Given the description of an element on the screen output the (x, y) to click on. 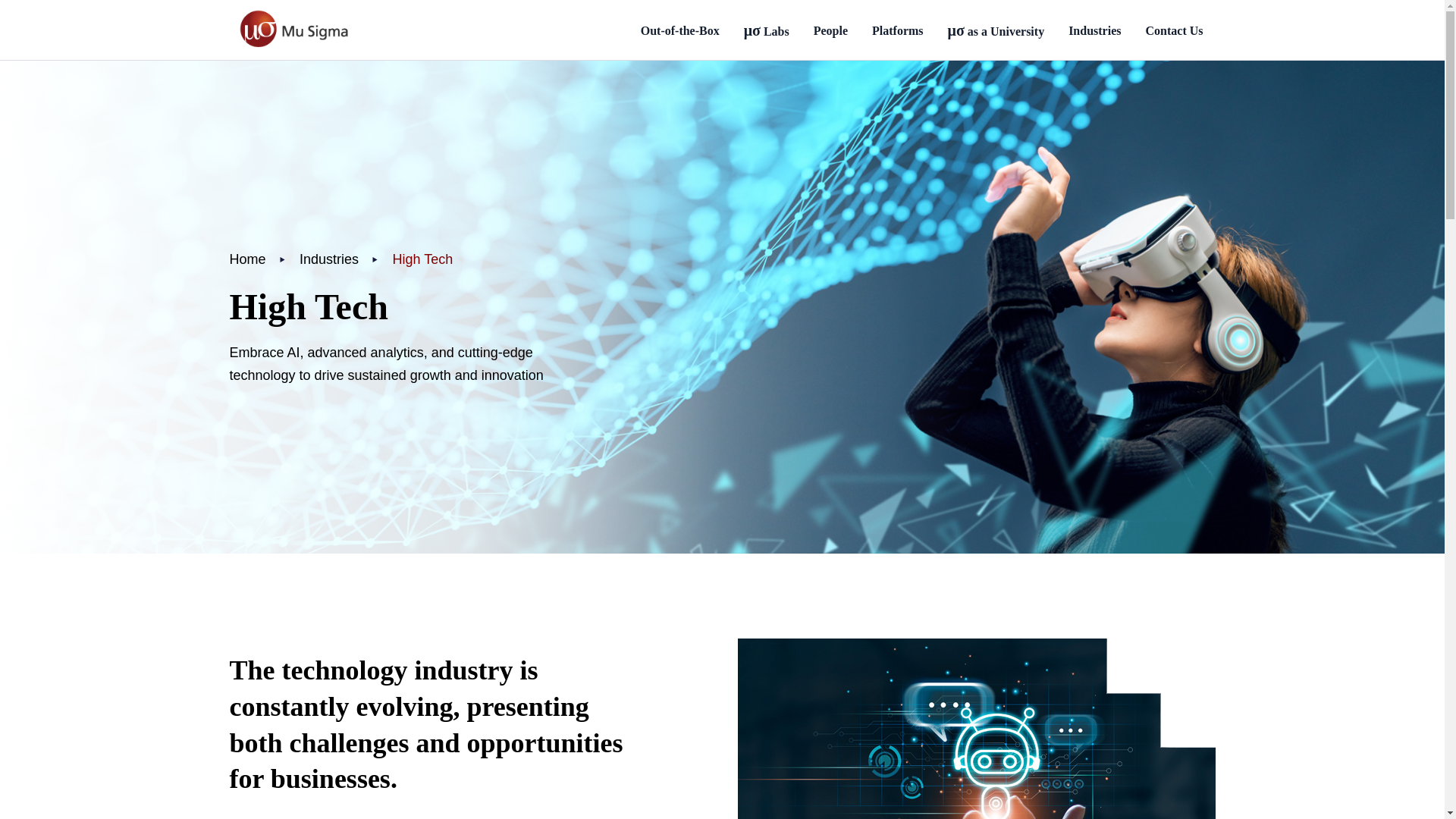
People (830, 30)
Contact Us (1173, 30)
Out-of-the-Box (679, 30)
Industries (1094, 30)
Platforms (897, 30)
